Given the description of an element on the screen output the (x, y) to click on. 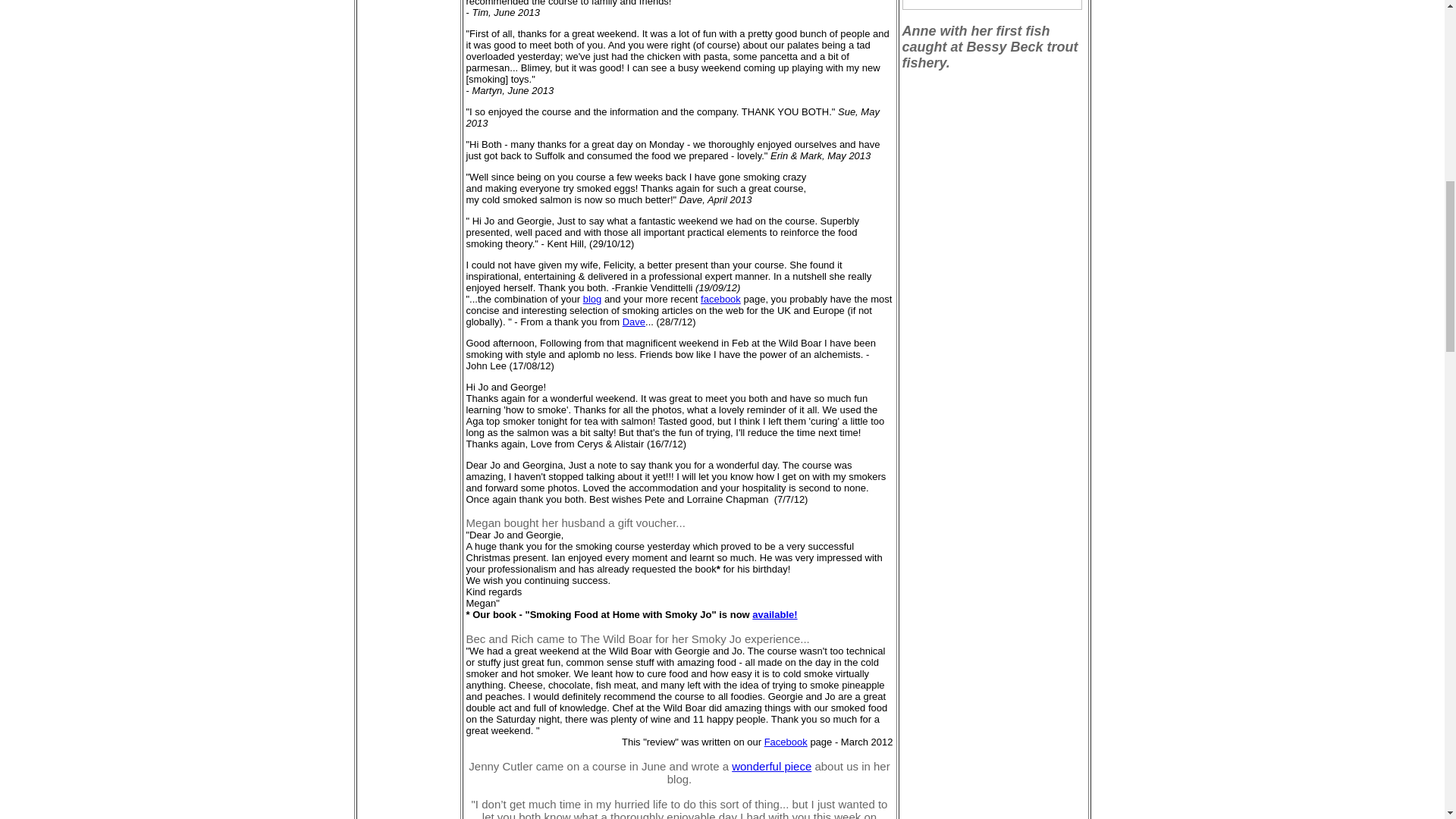
facebook (720, 298)
Dave (634, 321)
wonderful piece (771, 766)
blog (592, 298)
available! (774, 614)
Facebook (786, 741)
